Given the description of an element on the screen output the (x, y) to click on. 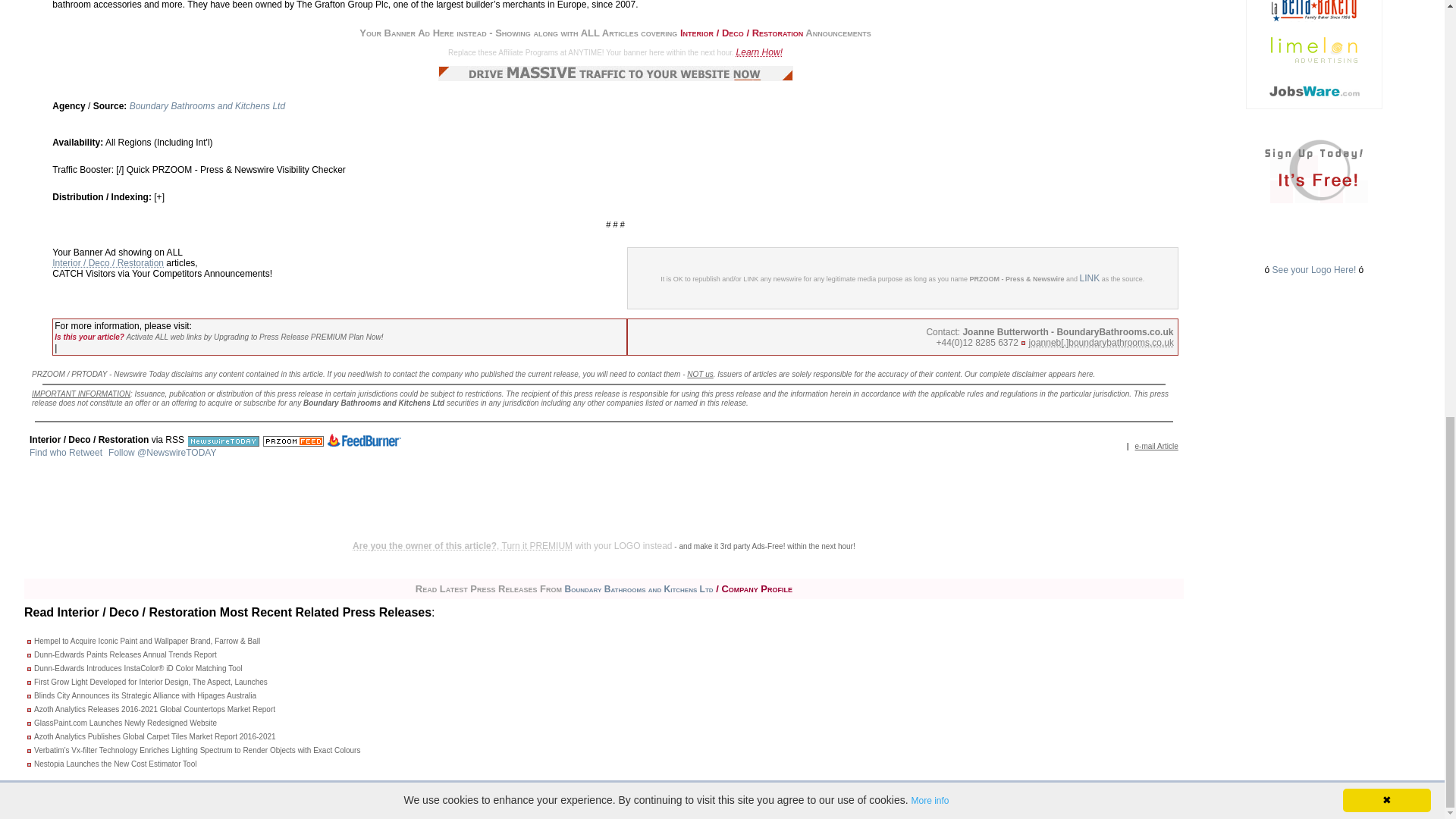
Boundary Bathrooms and Kitchens Ltd (207, 105)
here (1085, 373)
LINK (1090, 277)
Learn How! (759, 51)
Find who Retweet (65, 452)
